Given the description of an element on the screen output the (x, y) to click on. 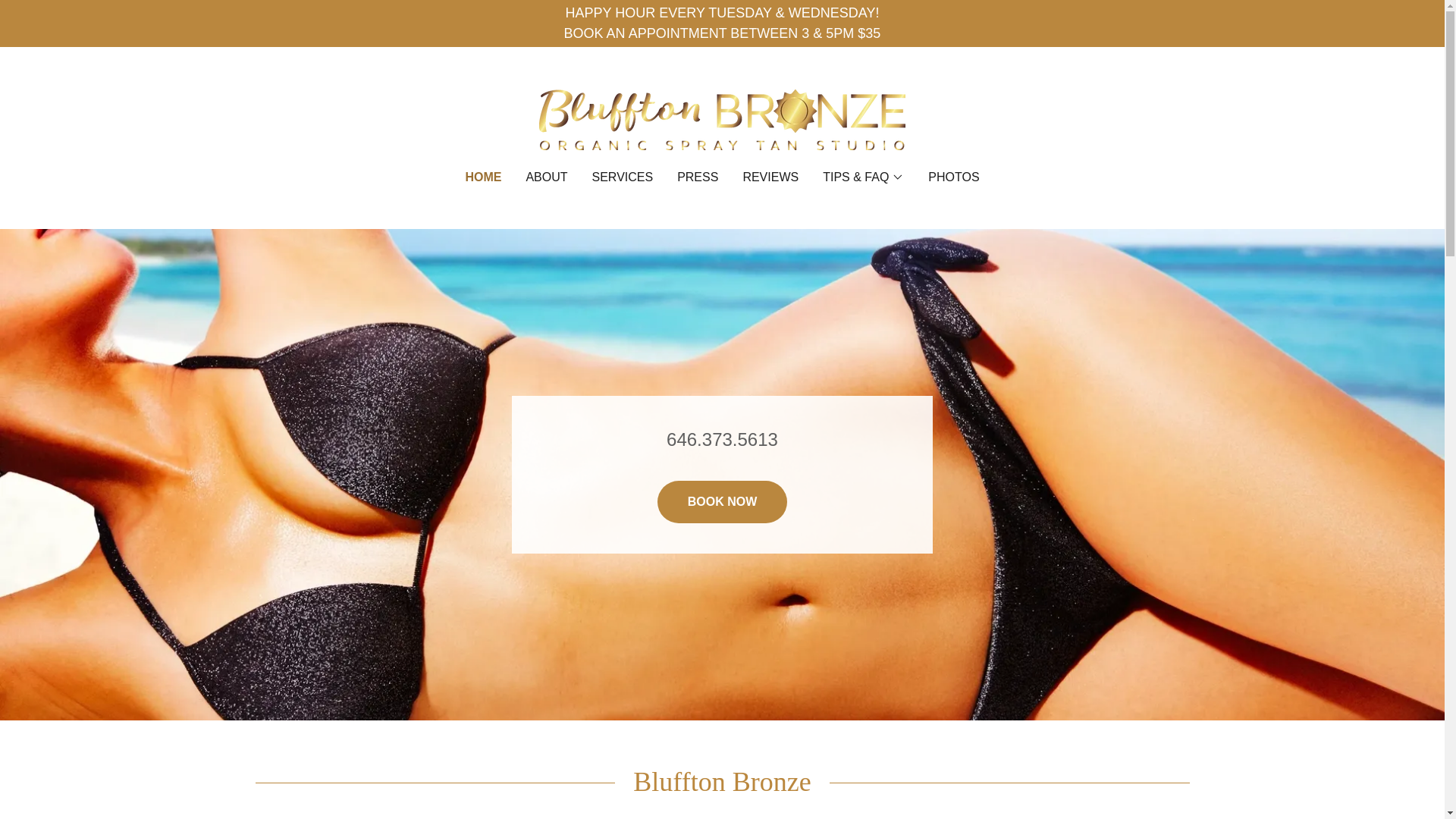
BOOK NOW (722, 501)
SERVICES (623, 176)
HOME (482, 177)
REVIEWS (770, 176)
ABOUT (546, 176)
PRESS (697, 176)
646.373.5613 (721, 439)
PHOTOS (953, 176)
